Given the description of an element on the screen output the (x, y) to click on. 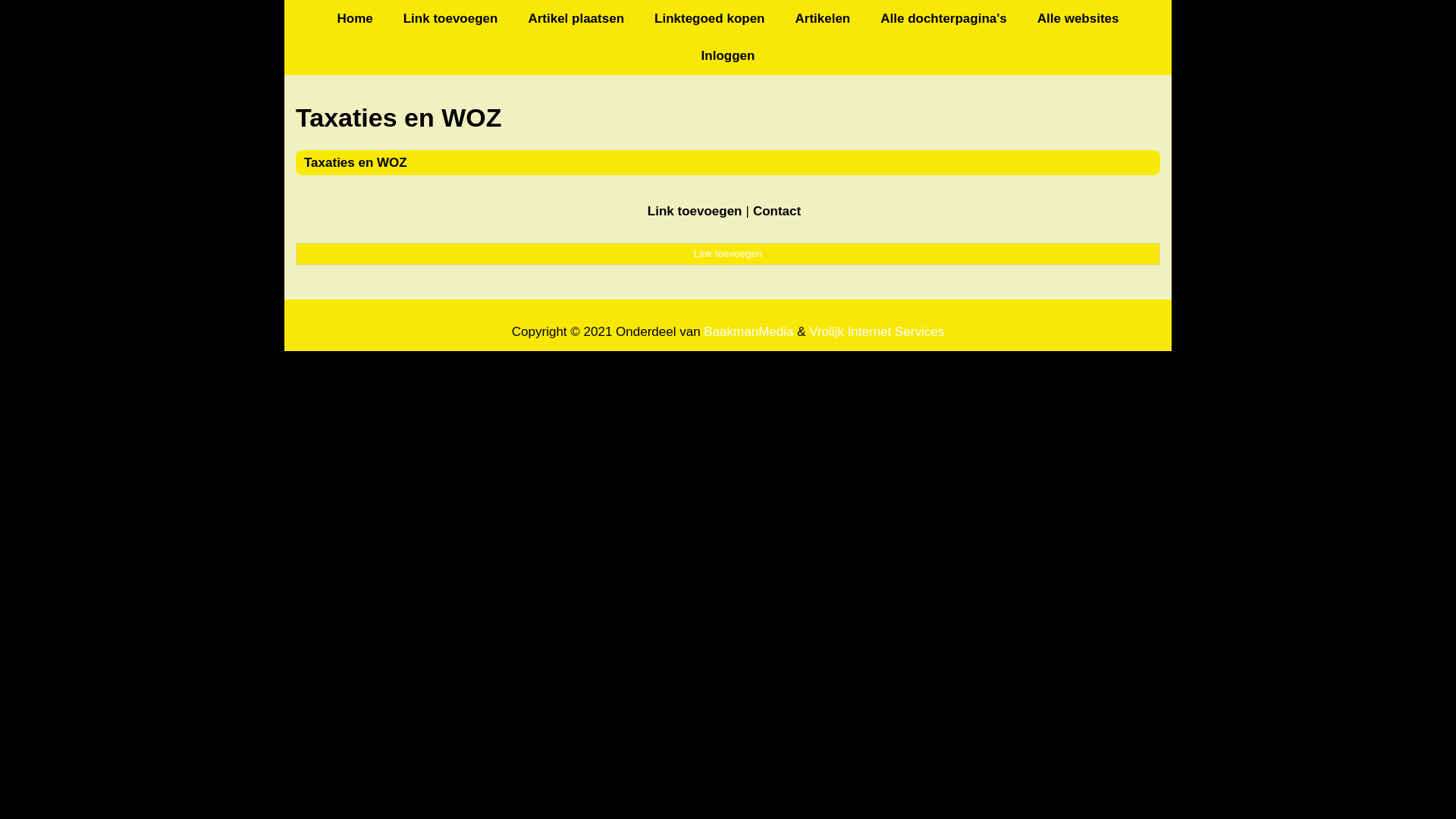
Link toevoegen Element type: text (694, 210)
Alle dochterpagina's Element type: text (943, 18)
Taxaties en WOZ Element type: text (355, 162)
Contact Element type: text (776, 210)
Home Element type: text (354, 18)
Artikel plaatsen Element type: text (575, 18)
Link toevoegen Element type: text (450, 18)
BaakmanMedia Element type: text (748, 331)
Taxaties en WOZ Element type: text (727, 117)
Artikelen Element type: text (822, 18)
Vrolijk Internet Services Element type: text (876, 331)
Linktegoed kopen Element type: text (709, 18)
Alle websites Element type: text (1078, 18)
Link toevoegen Element type: text (727, 253)
Inloggen Element type: text (728, 55)
